Given the description of an element on the screen output the (x, y) to click on. 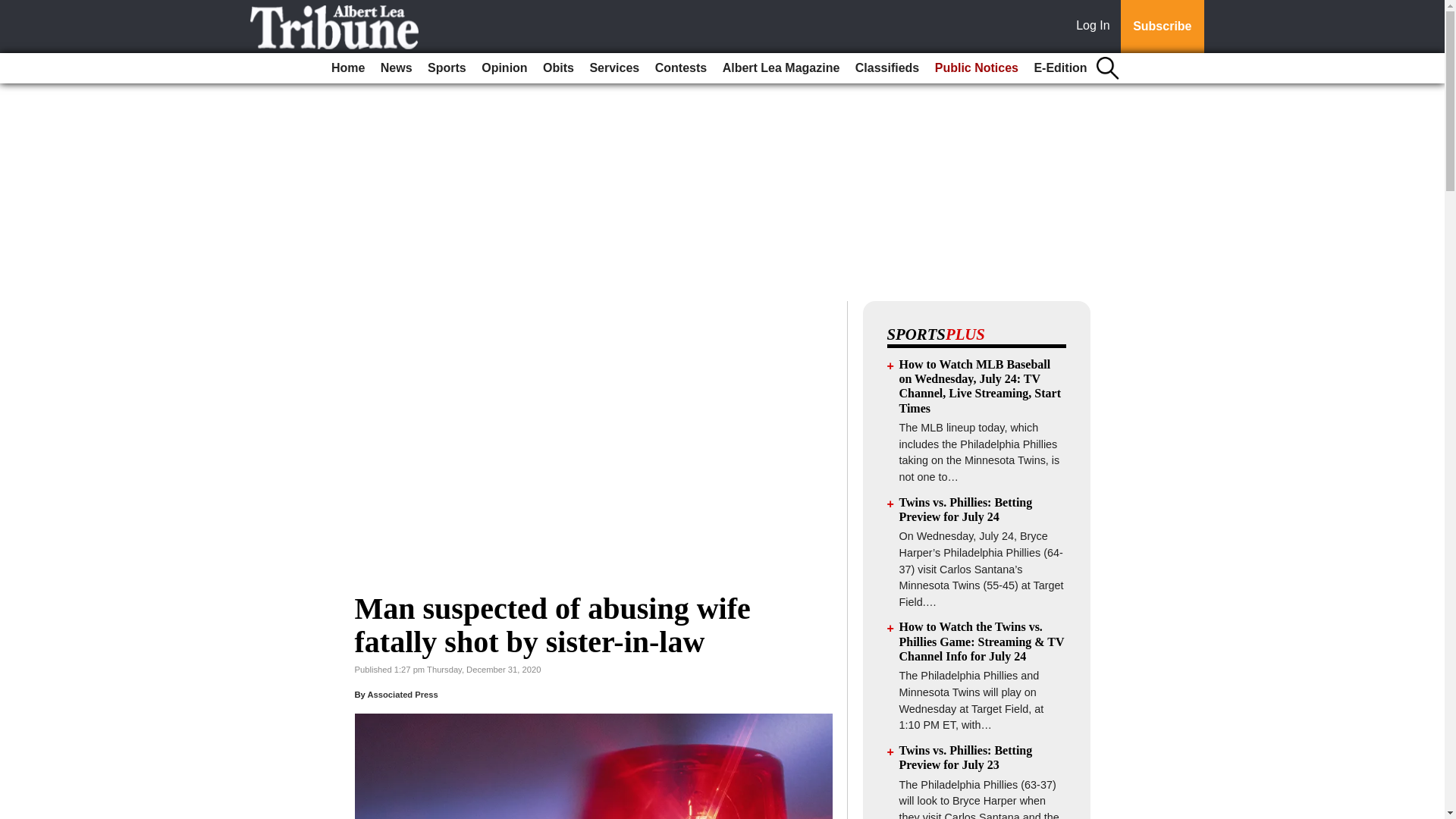
Subscribe (1162, 26)
Home (347, 68)
Obits (558, 68)
Sports (446, 68)
Log In (1095, 26)
Opinion (504, 68)
Services (614, 68)
News (396, 68)
